Given the description of an element on the screen output the (x, y) to click on. 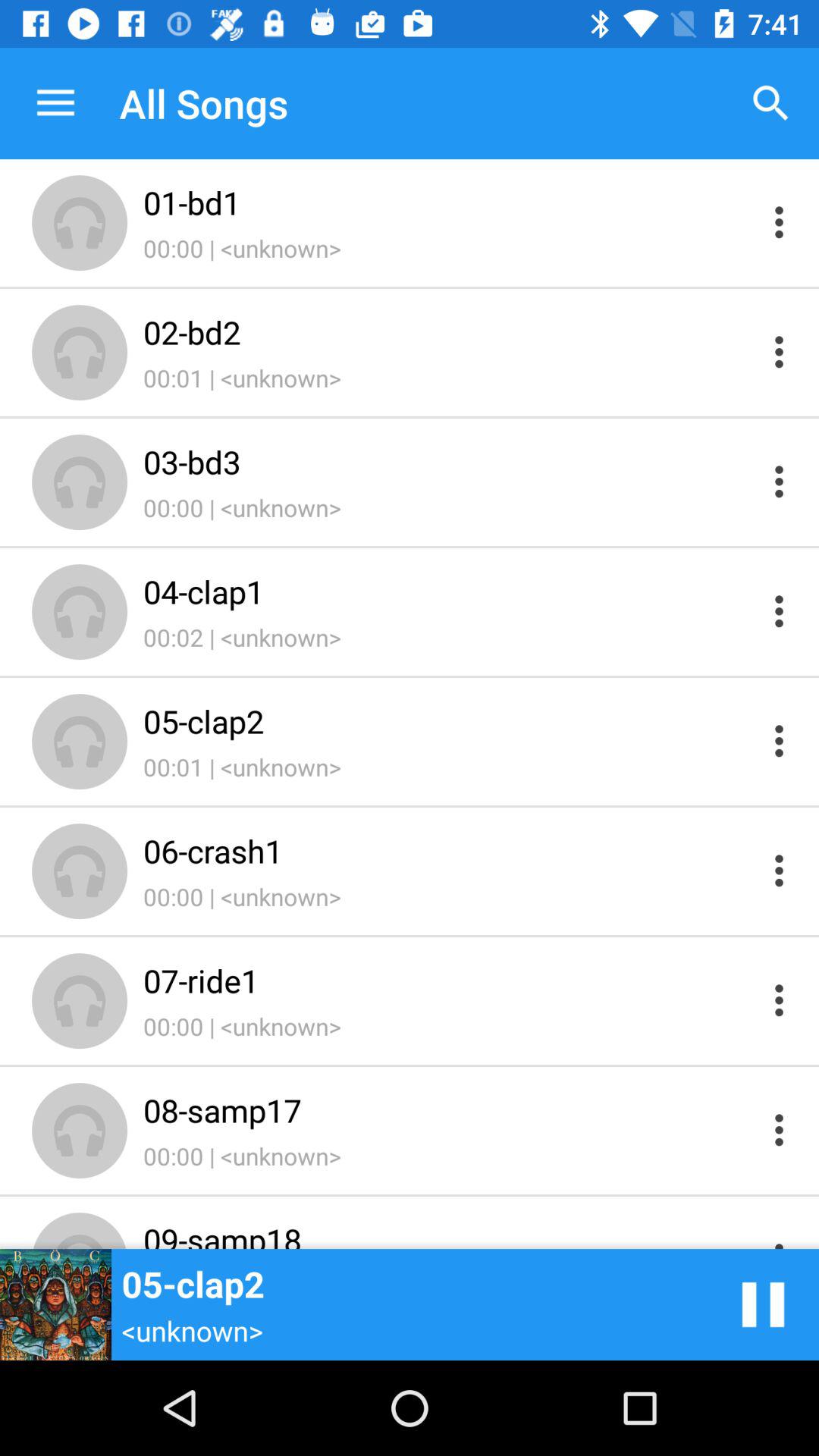
pause button (763, 1304)
